Given the description of an element on the screen output the (x, y) to click on. 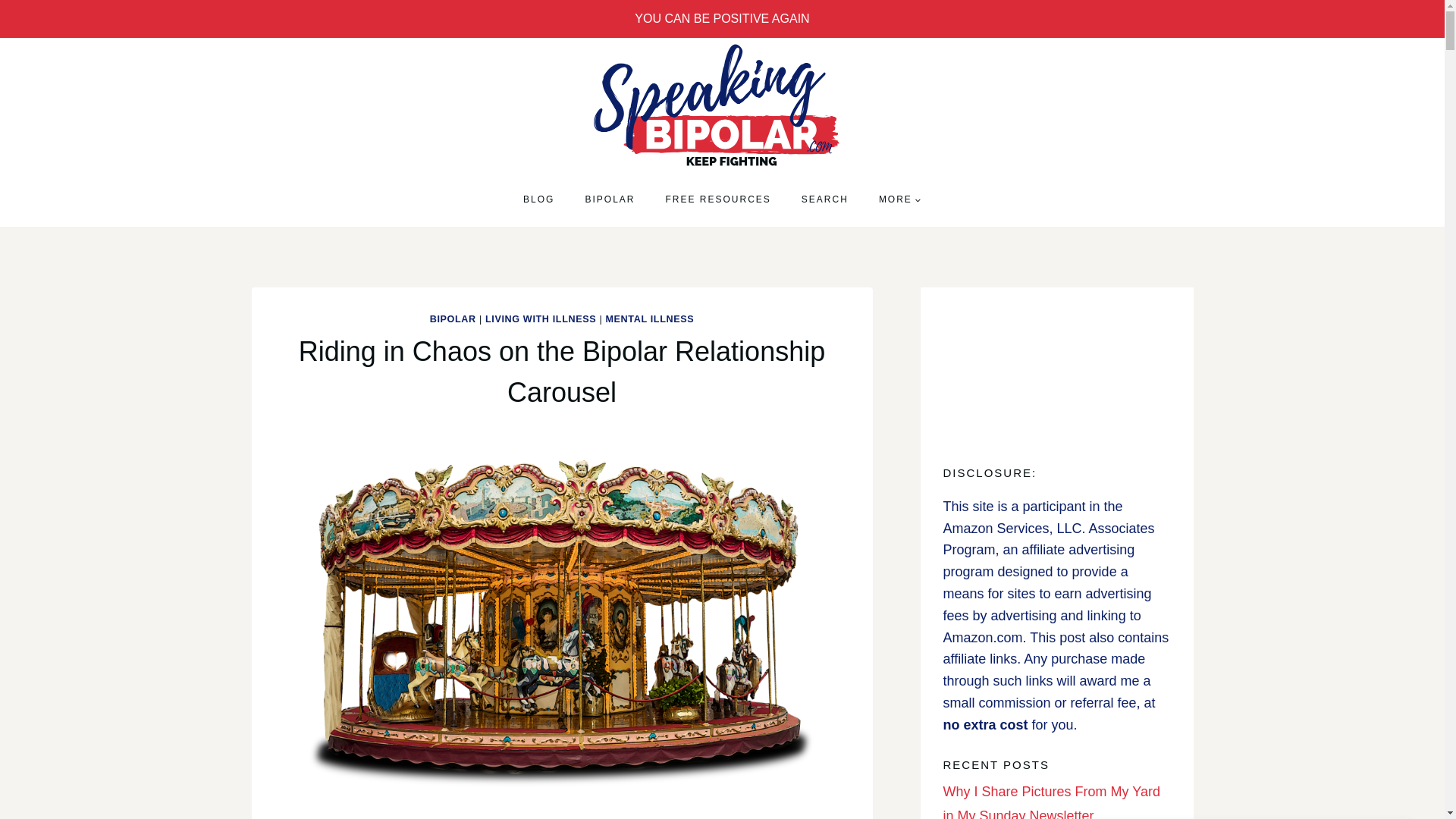
SEARCH (824, 199)
BLOG (538, 199)
BIPOLAR (452, 318)
MENTAL ILLNESS (649, 318)
FREE RESOURCES (718, 199)
BIPOLAR (609, 199)
LIVING WITH ILLNESS (539, 318)
MORE (899, 199)
